Given the description of an element on the screen output the (x, y) to click on. 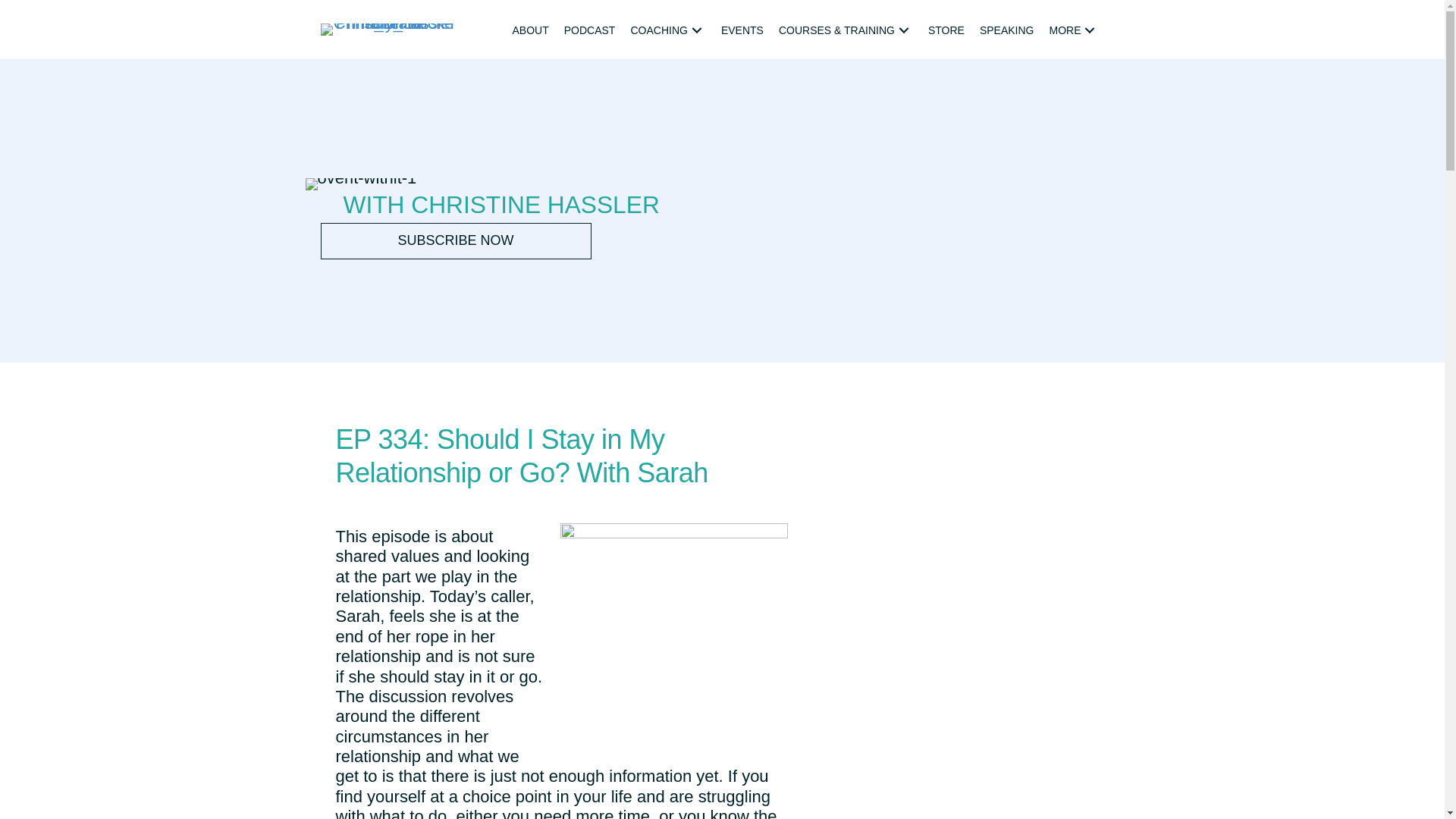
SPEAKING (1007, 30)
COACHING (668, 30)
EVENTS (742, 30)
STORE (946, 30)
ABOUT (530, 30)
overit-withit-1 (360, 184)
MORE (1073, 30)
PODCAST (589, 30)
SUBSCRIBE NOW (455, 240)
